Given the description of an element on the screen output the (x, y) to click on. 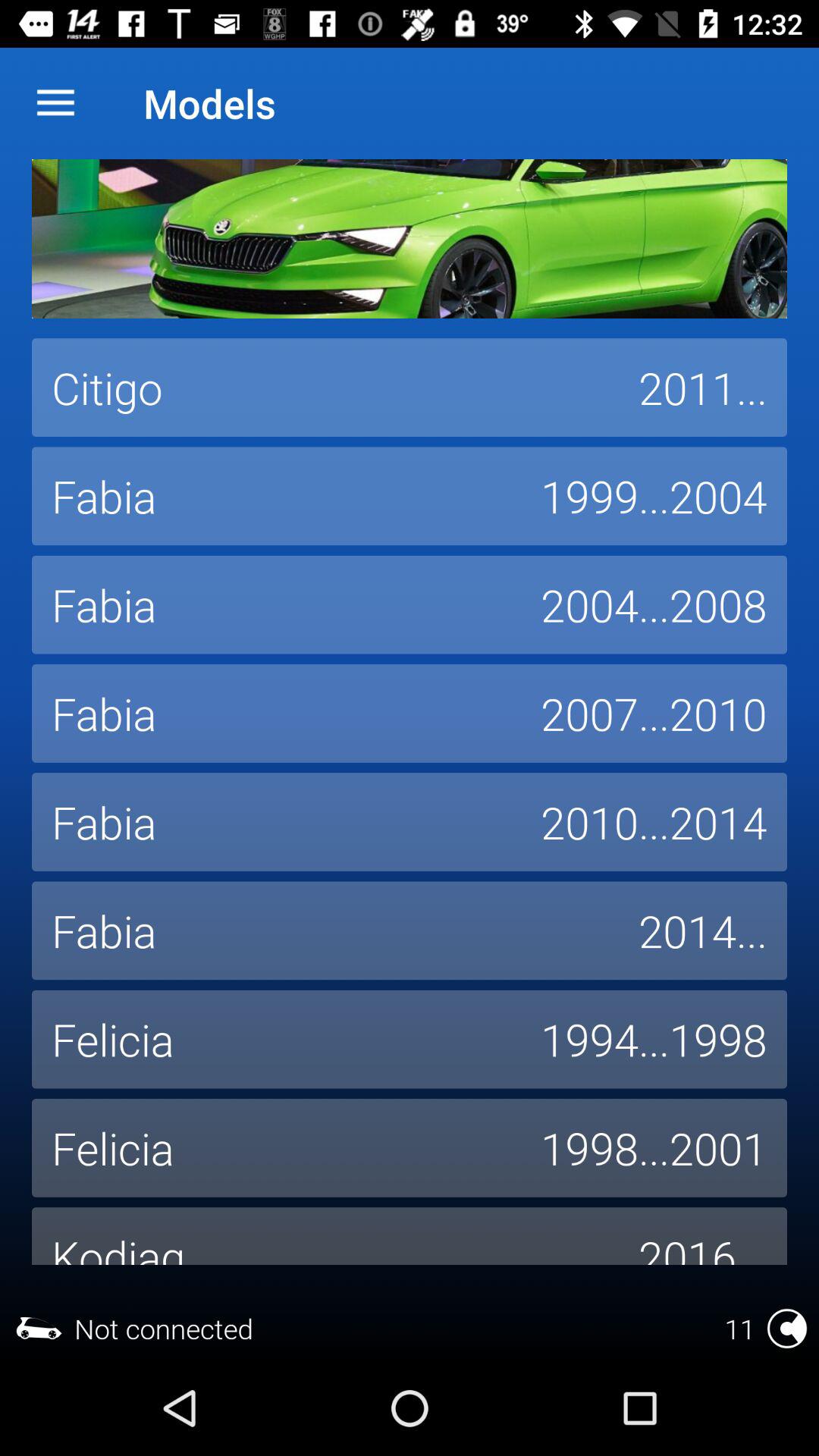
tap the item next to fabia (702, 930)
